Given the description of an element on the screen output the (x, y) to click on. 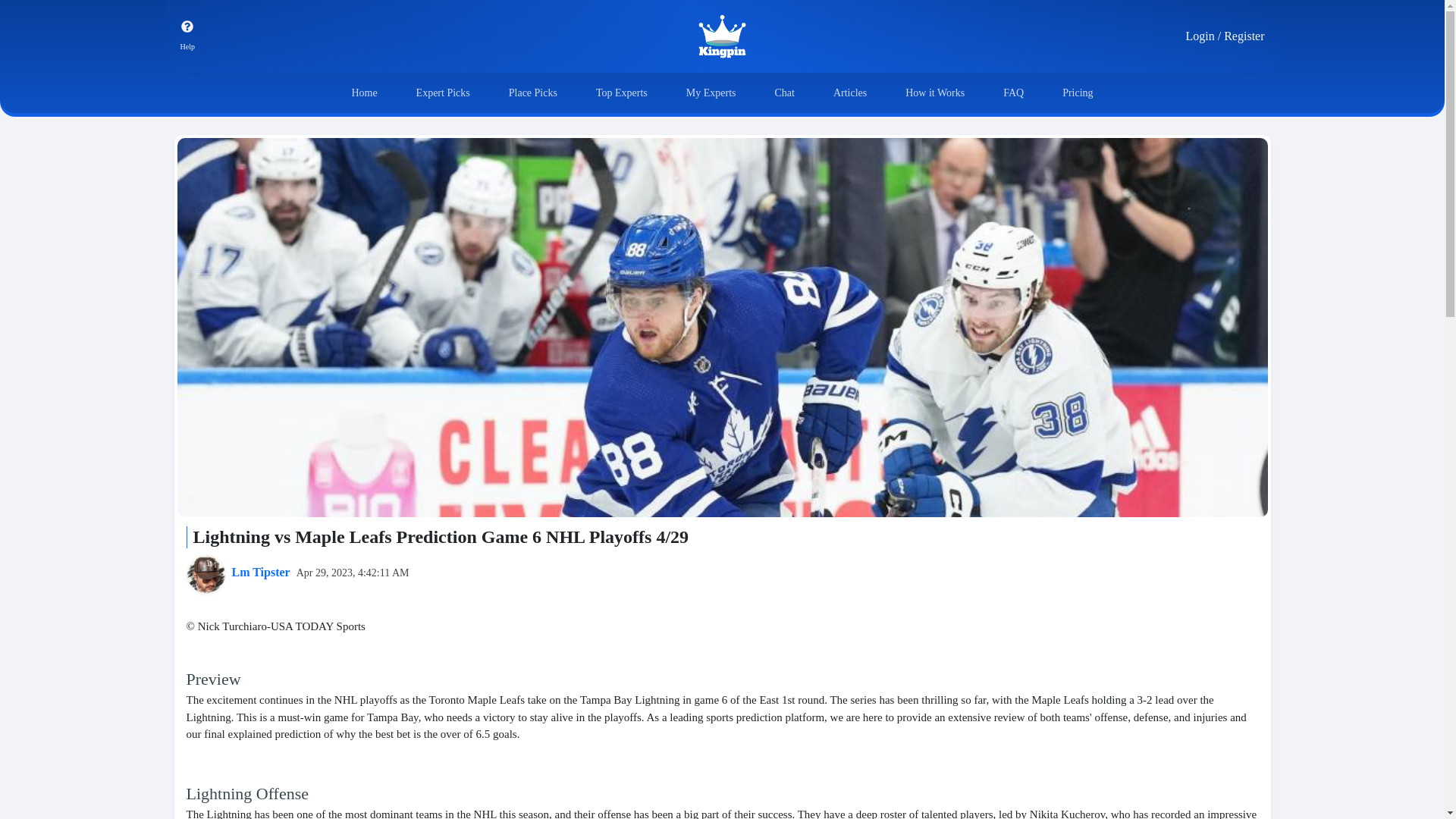
Lm Tipster (260, 572)
Expert Picks (443, 92)
Articles (849, 92)
How it Works (935, 92)
Pricing (1078, 92)
Chat (783, 92)
Home (363, 92)
My Experts (710, 92)
FAQ (1013, 92)
Top Experts (621, 92)
Place Picks (532, 92)
